Given the description of an element on the screen output the (x, y) to click on. 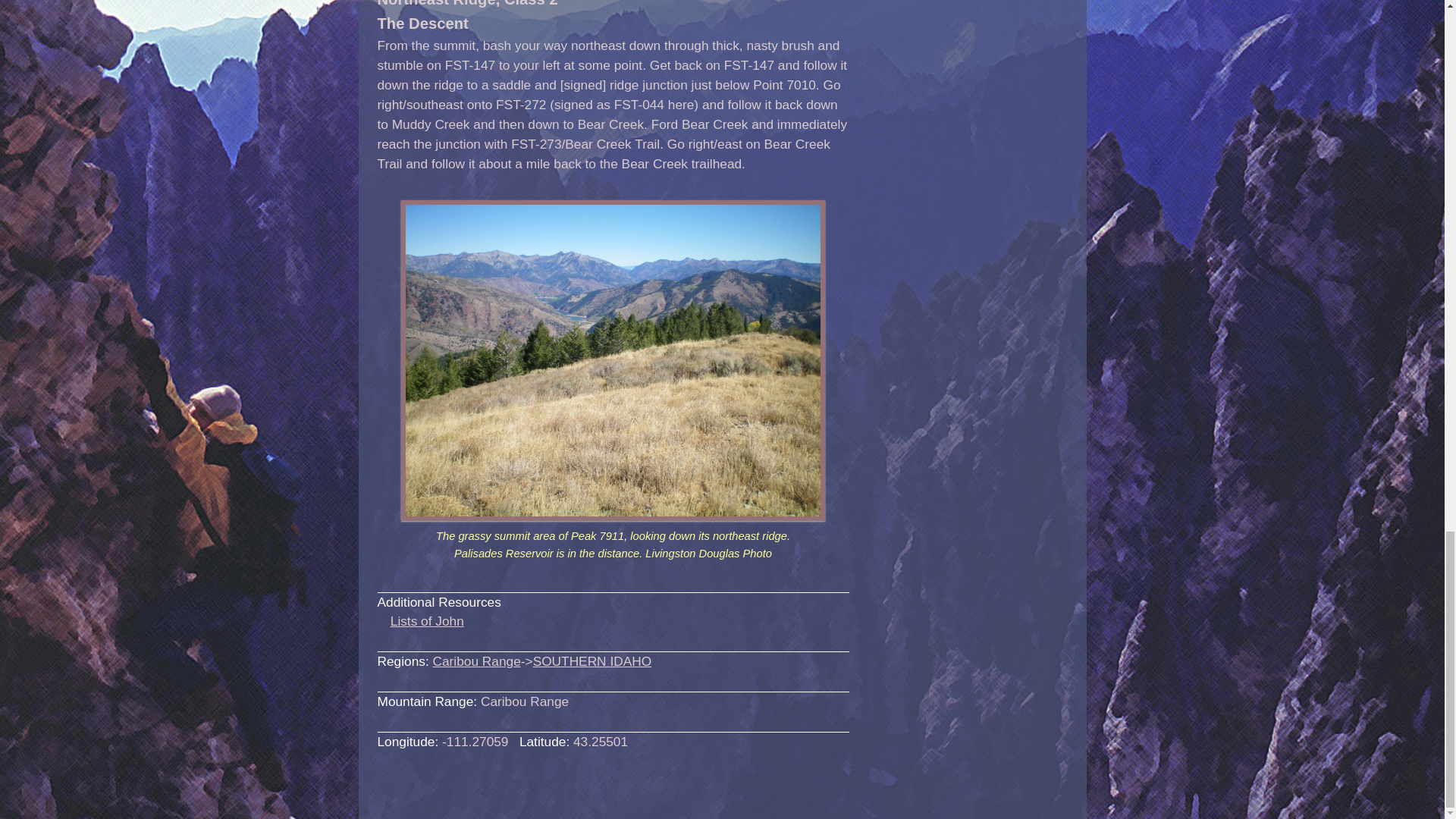
Lists of John (427, 620)
SOUTHERN IDAHO (592, 661)
Caribou Range (476, 661)
